Given the description of an element on the screen output the (x, y) to click on. 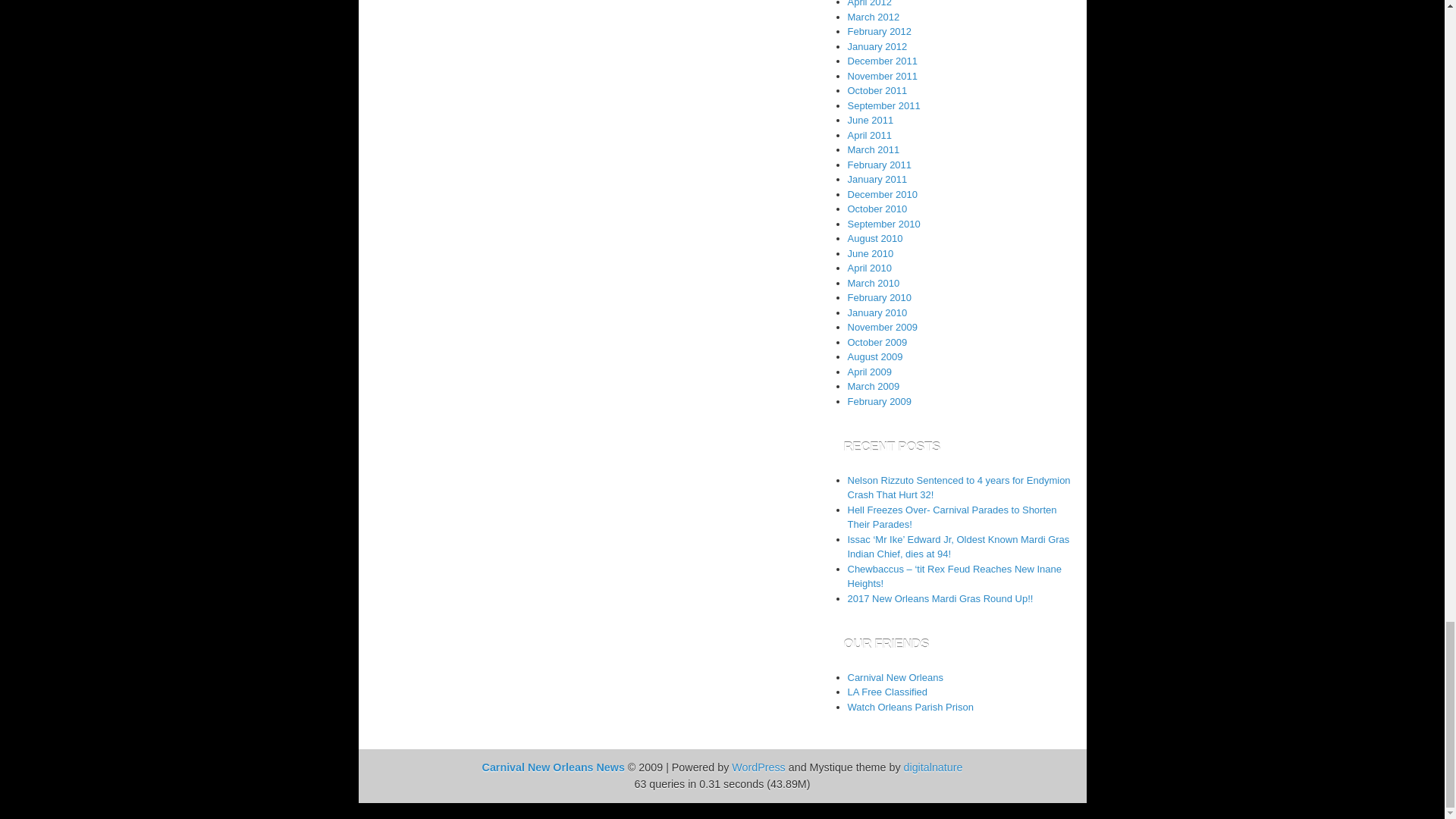
Carnival New Orleans News (552, 767)
All Louisiana classified ads site (887, 691)
Oldest Mardi Gras web site in NOLA, since 1996. (895, 677)
